Given the description of an element on the screen output the (x, y) to click on. 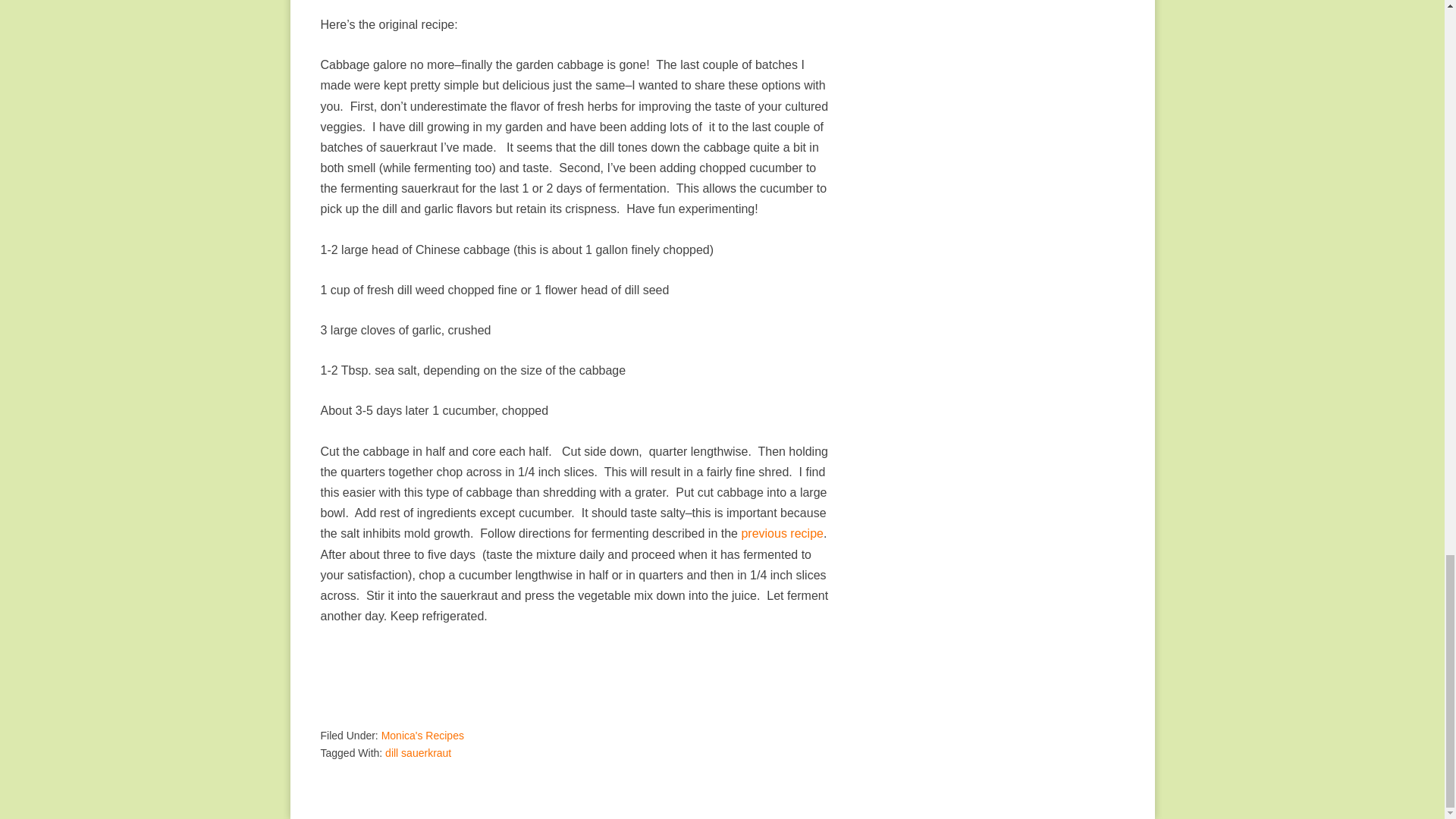
previous recipe (781, 533)
Monica's Recipes (422, 735)
dill sauerkraut (418, 752)
